Given the description of an element on the screen output the (x, y) to click on. 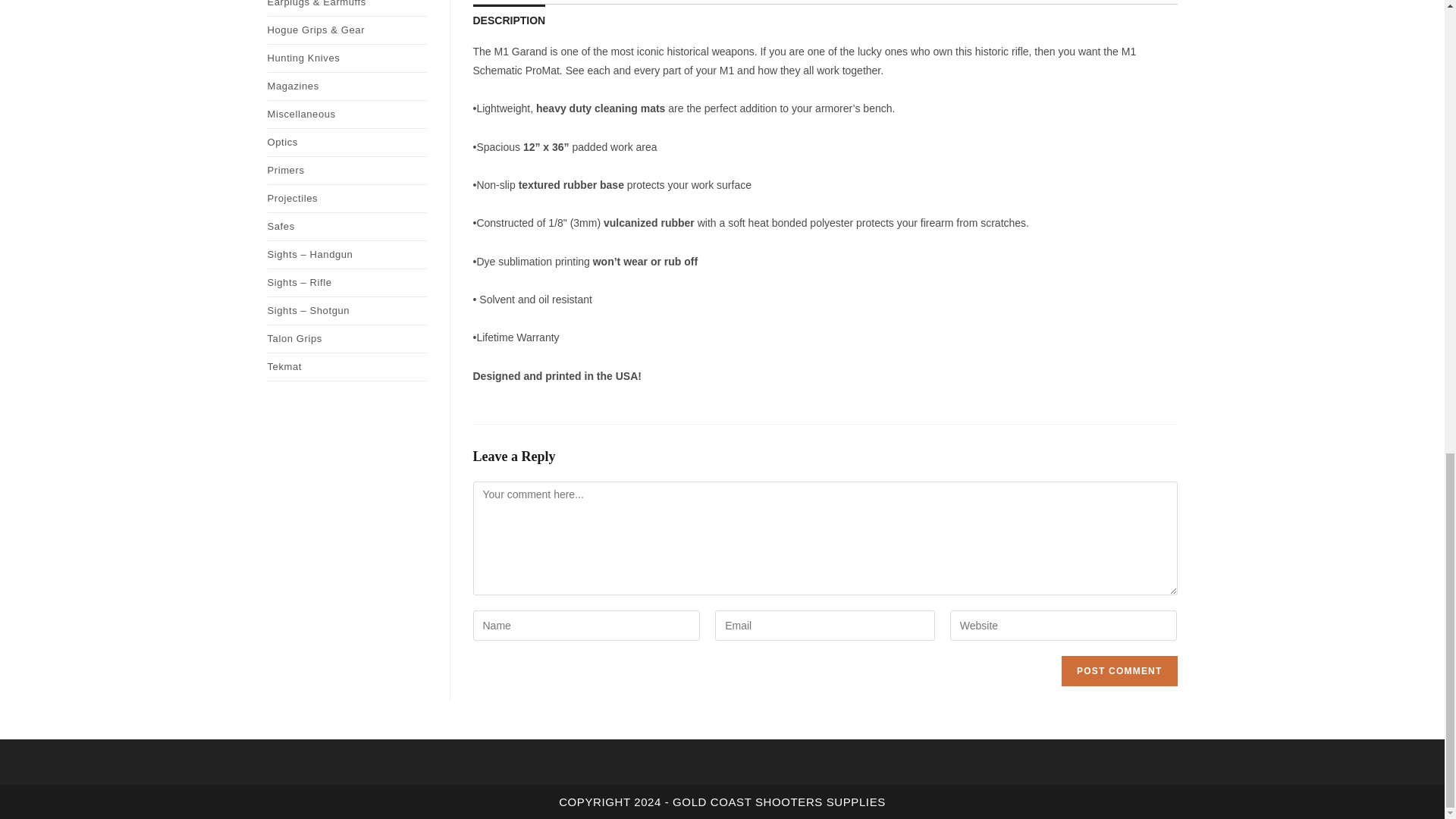
Post Comment (1118, 671)
